Given the description of an element on the screen output the (x, y) to click on. 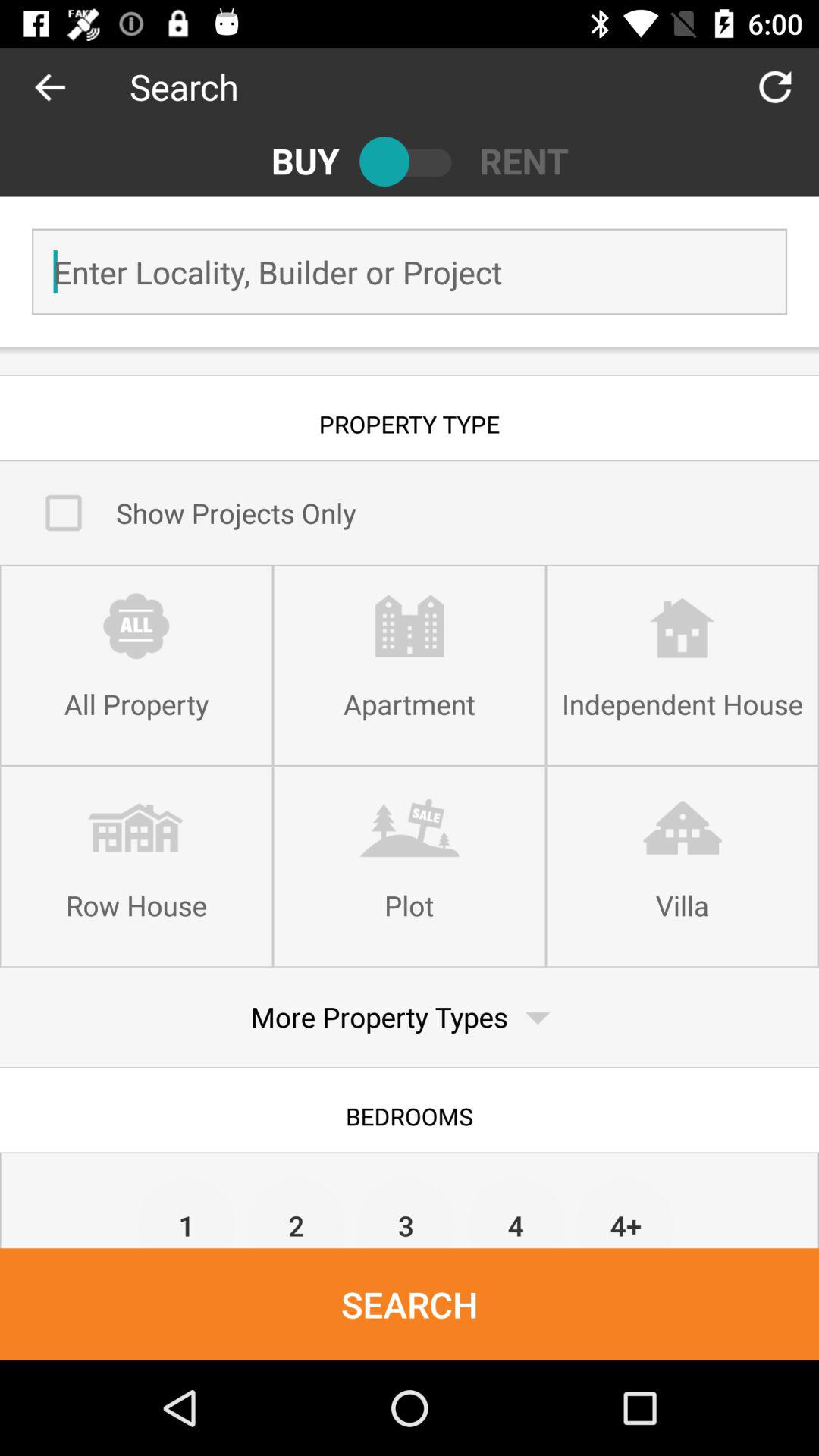
click the icon above search item (406, 1212)
